Given the description of an element on the screen output the (x, y) to click on. 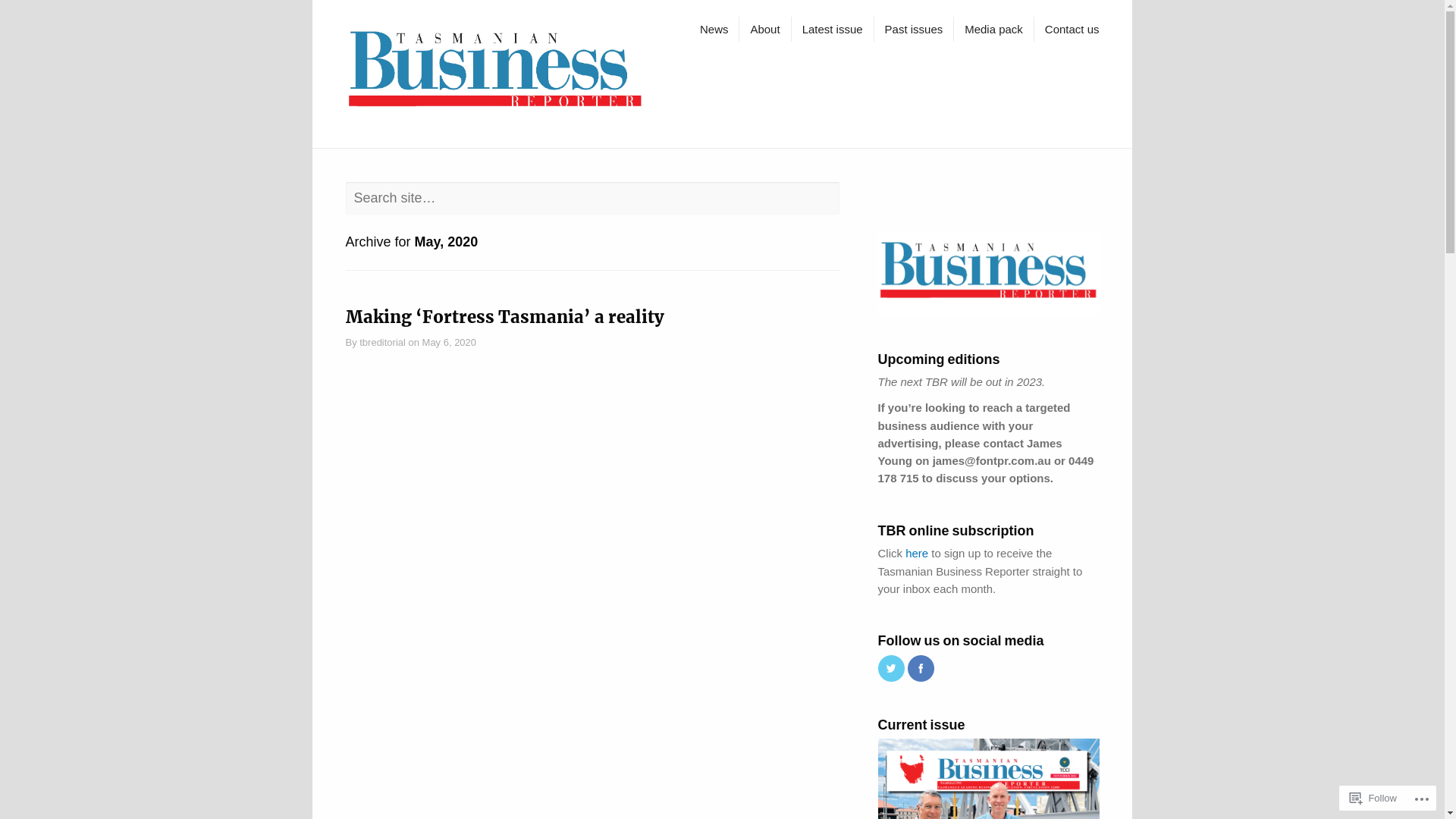
Latest issue Element type: text (832, 28)
About Element type: text (764, 28)
Facebook Element type: hover (920, 668)
tbreditorial Element type: text (382, 342)
Follow Element type: text (1372, 797)
May 6, 2020 Element type: text (449, 342)
Past issues Element type: text (913, 28)
Home Element type: hover (496, 73)
here Element type: text (916, 552)
Contact us Element type: text (1071, 28)
Type and press Enter to search Element type: hover (722, 206)
Twitter Element type: hover (891, 668)
Media pack Element type: text (993, 28)
News Element type: text (713, 28)
